Given the description of an element on the screen output the (x, y) to click on. 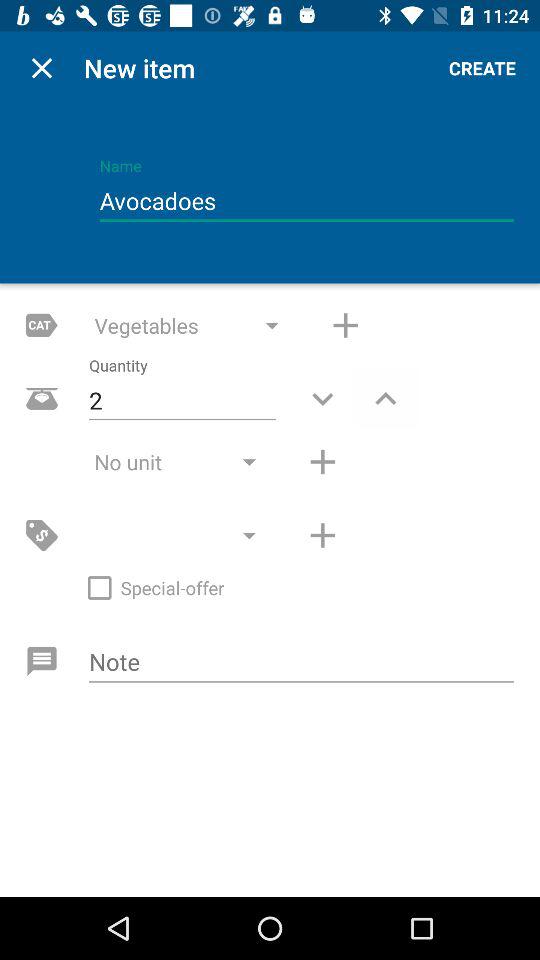
increase value (385, 398)
